Given the description of an element on the screen output the (x, y) to click on. 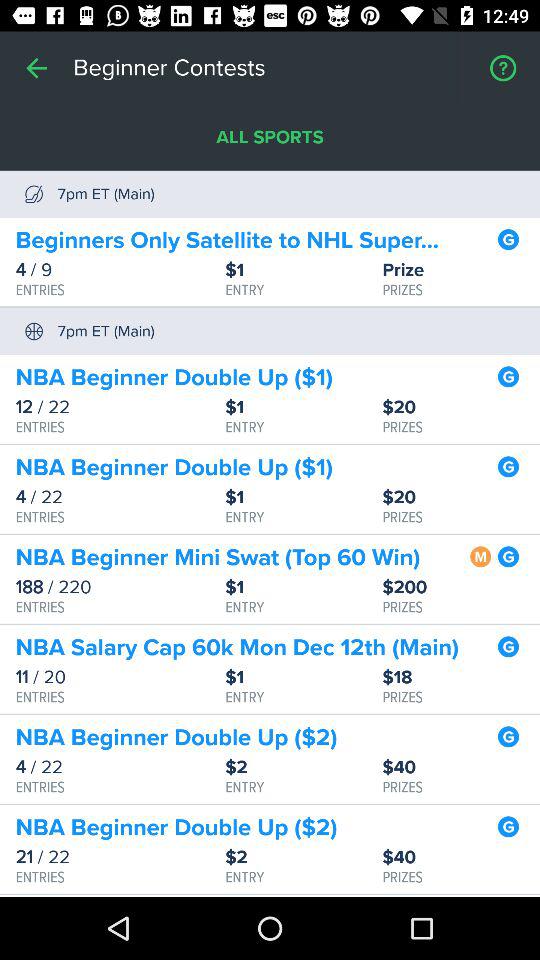
jump until the $18 (461, 677)
